Given the description of an element on the screen output the (x, y) to click on. 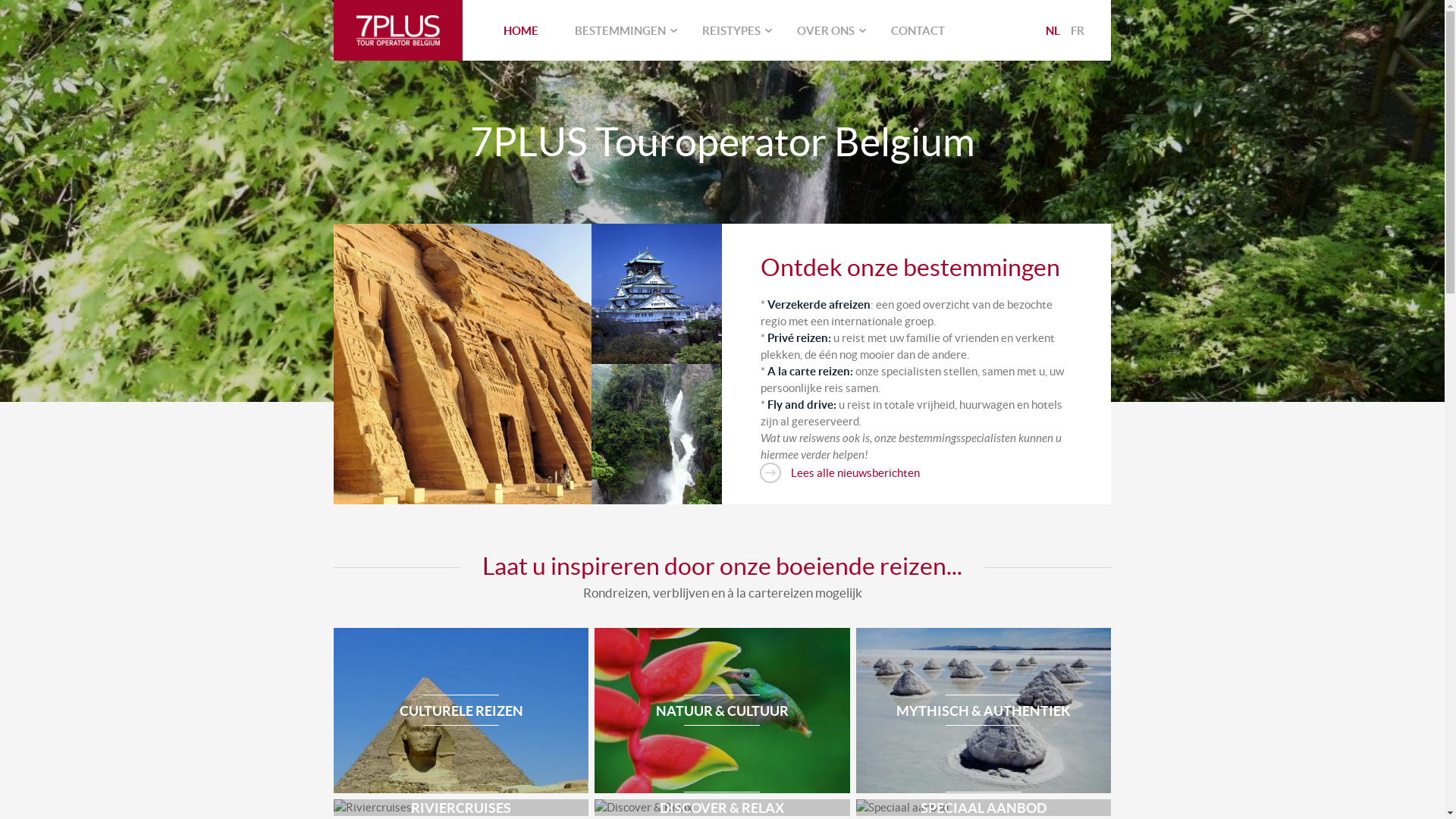
HOME Element type: text (520, 30)
CONTACT Element type: text (917, 30)
Natuur & Cultuur Element type: hover (721, 709)
Lees alle nieuwsberichten Element type: text (839, 472)
OVER ONS Element type: text (825, 30)
Speciaal aanbod Element type: hover (983, 807)
NL Element type: text (1052, 30)
REISTYPES Element type: text (731, 30)
BESTEMMINGEN Element type: text (620, 30)
Culturele reizen Element type: hover (460, 709)
Discover & Relax Element type: hover (721, 807)
FR Element type: text (1077, 30)
Riviercruises Element type: hover (460, 807)
Mythisch & authentiek Element type: hover (983, 710)
